Given the description of an element on the screen output the (x, y) to click on. 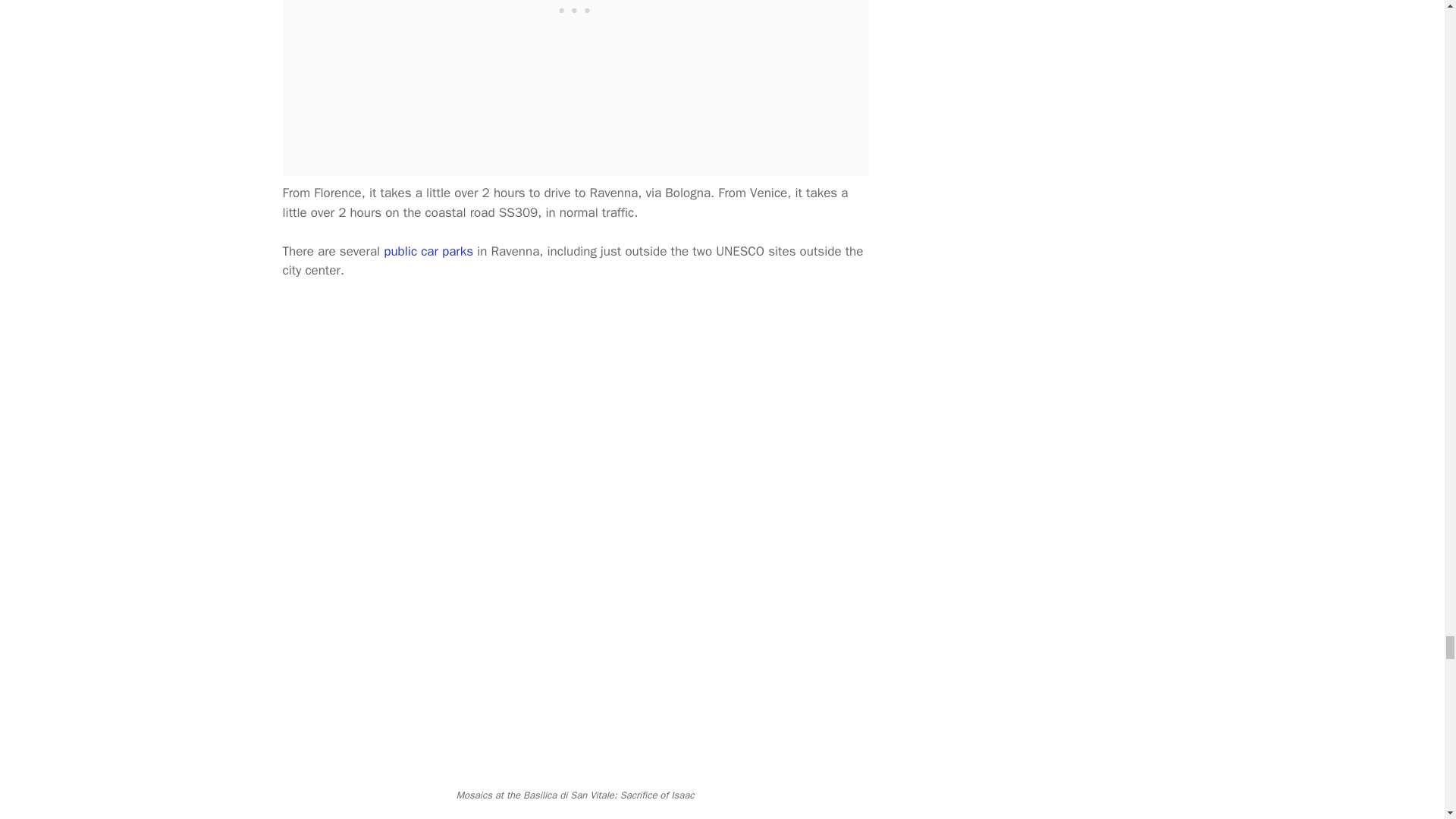
public car parks (428, 251)
